Given the description of an element on the screen output the (x, y) to click on. 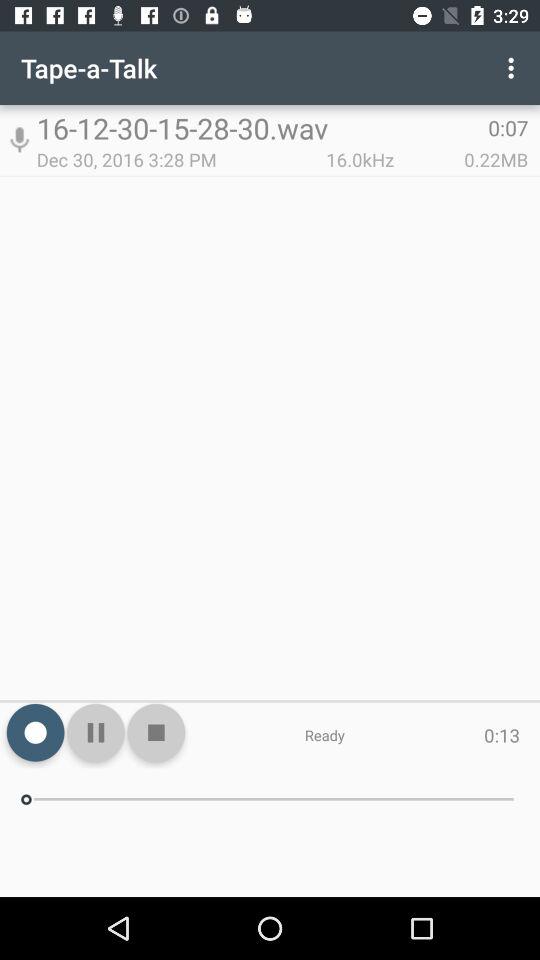
turn on the item next to the 16 12 30 icon (513, 67)
